Given the description of an element on the screen output the (x, y) to click on. 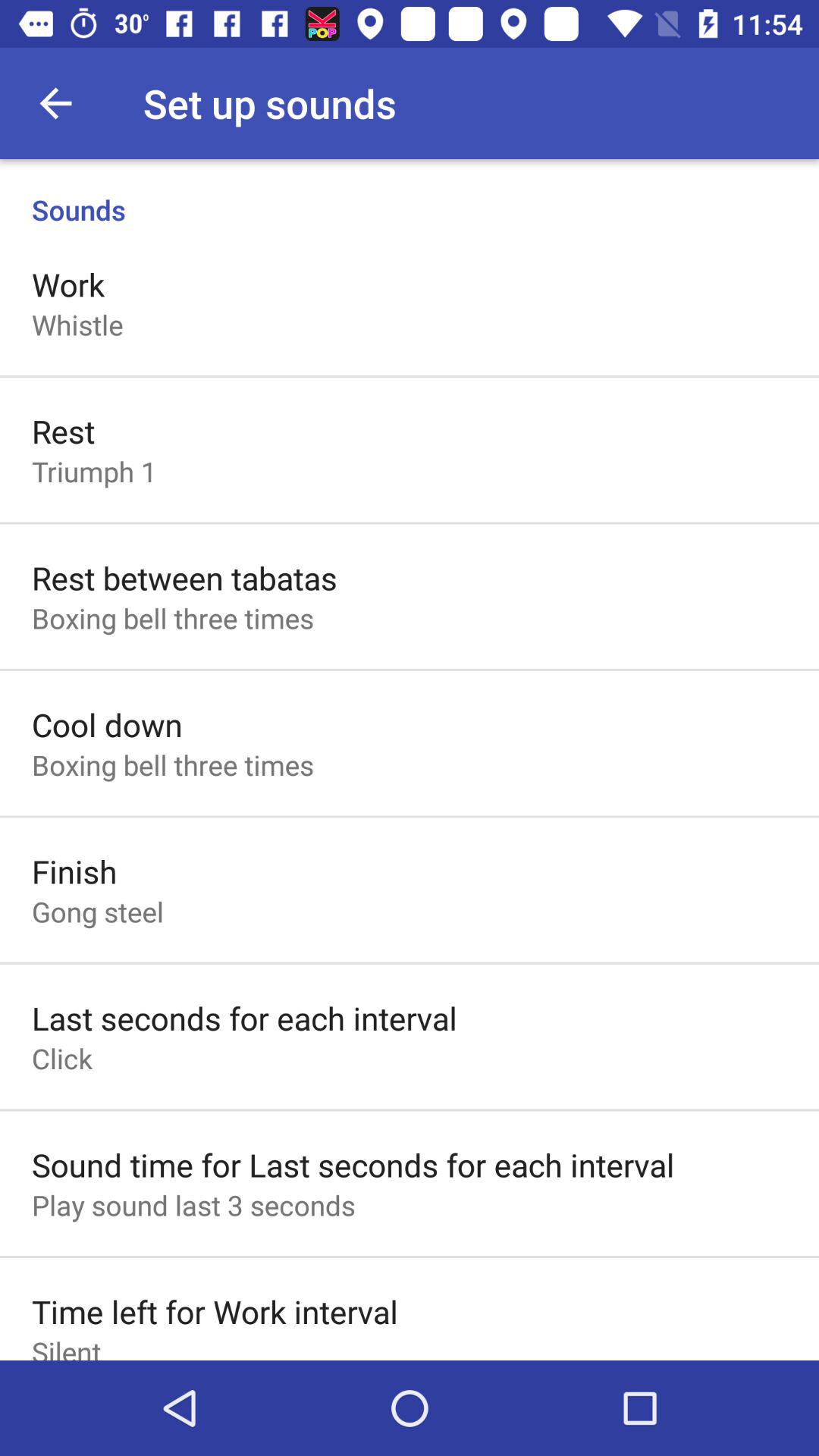
turn on the item to the left of set up sounds (55, 103)
